Given the description of an element on the screen output the (x, y) to click on. 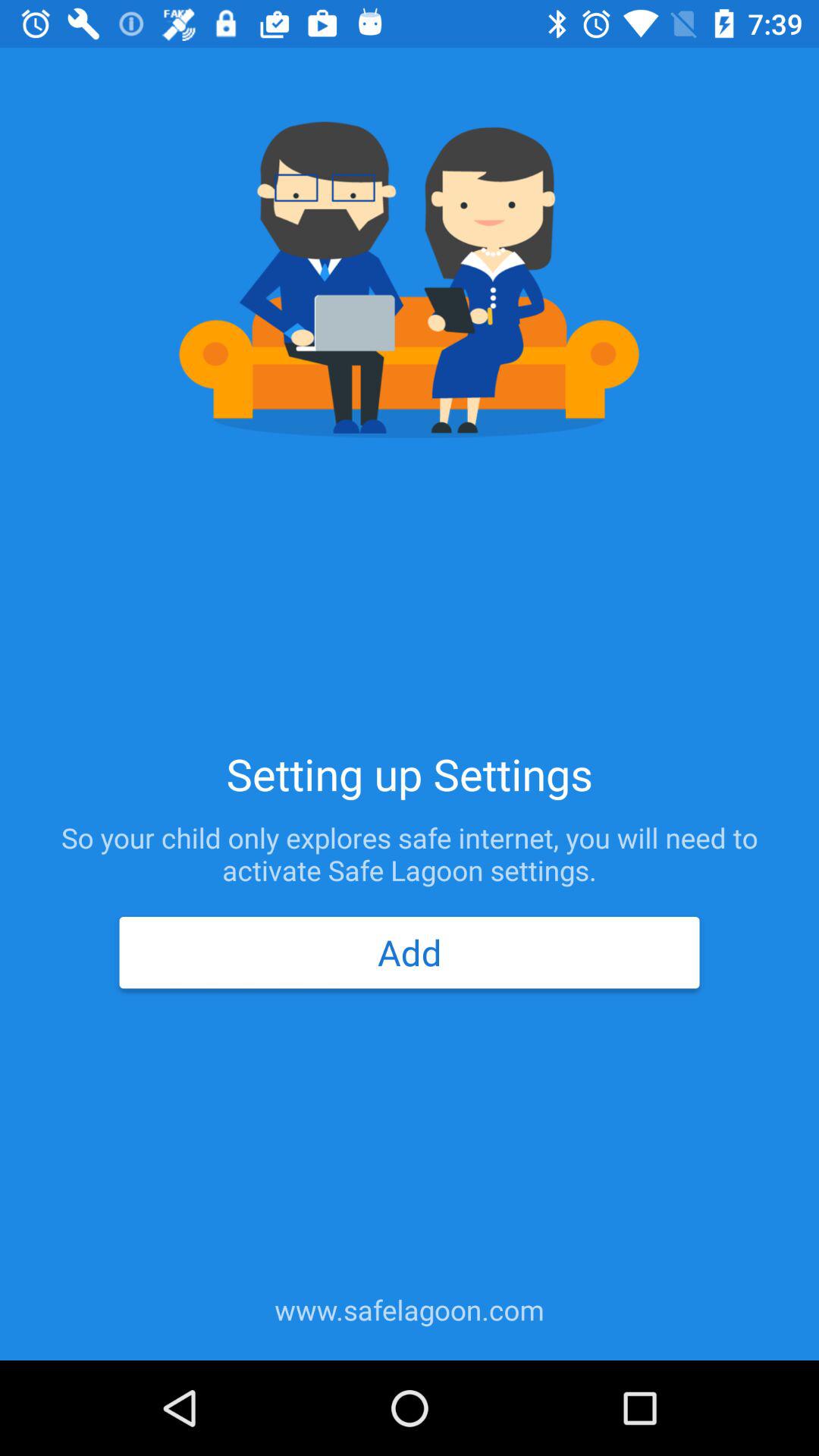
choose add (409, 952)
